Given the description of an element on the screen output the (x, y) to click on. 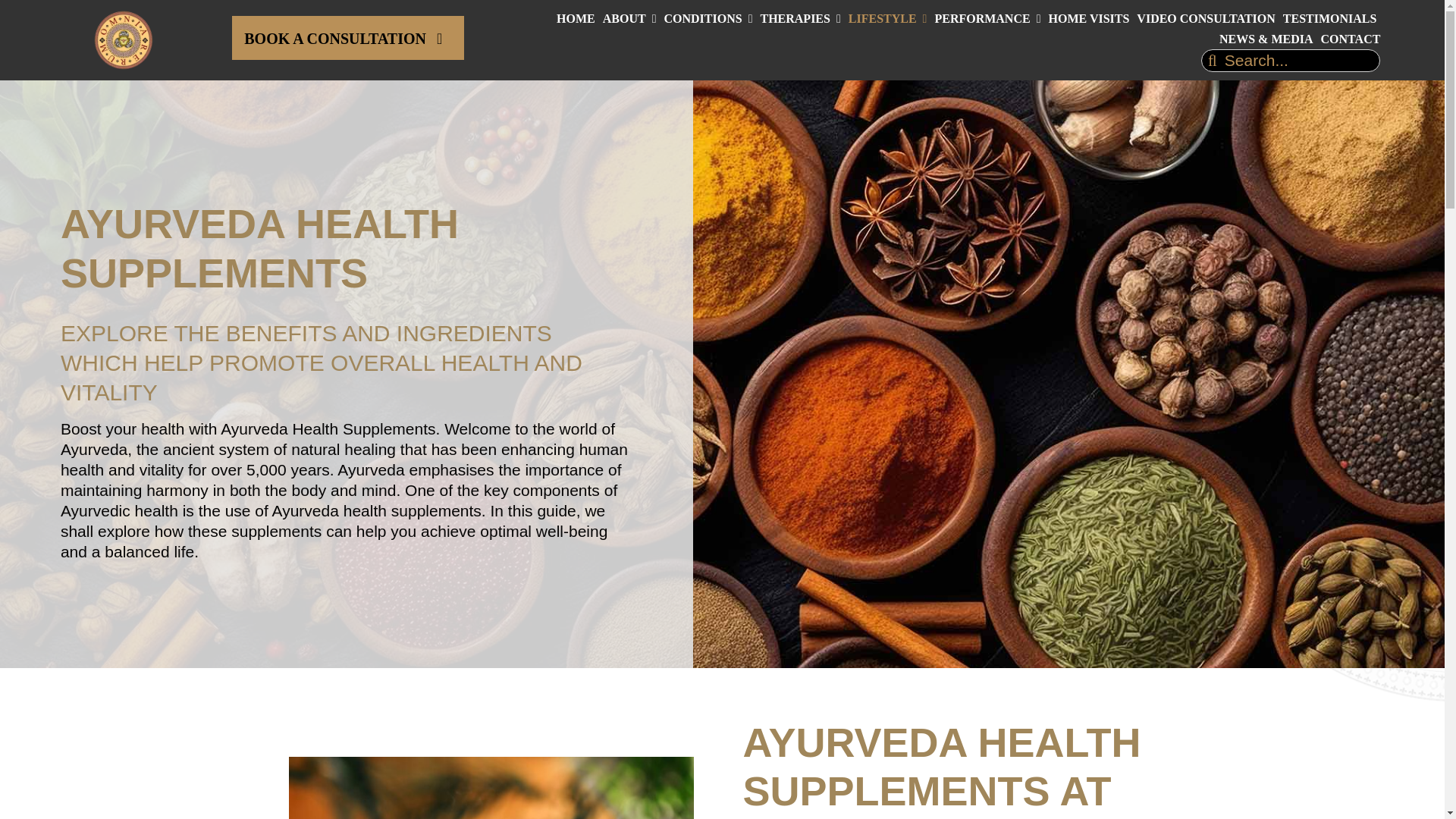
CONDITIONS (707, 18)
HOME (575, 18)
BOOK A CONSULTATION (347, 37)
Ayurveda beauty supplements (490, 787)
Book a consultation (347, 37)
ABOUT (629, 18)
